Given the description of an element on the screen output the (x, y) to click on. 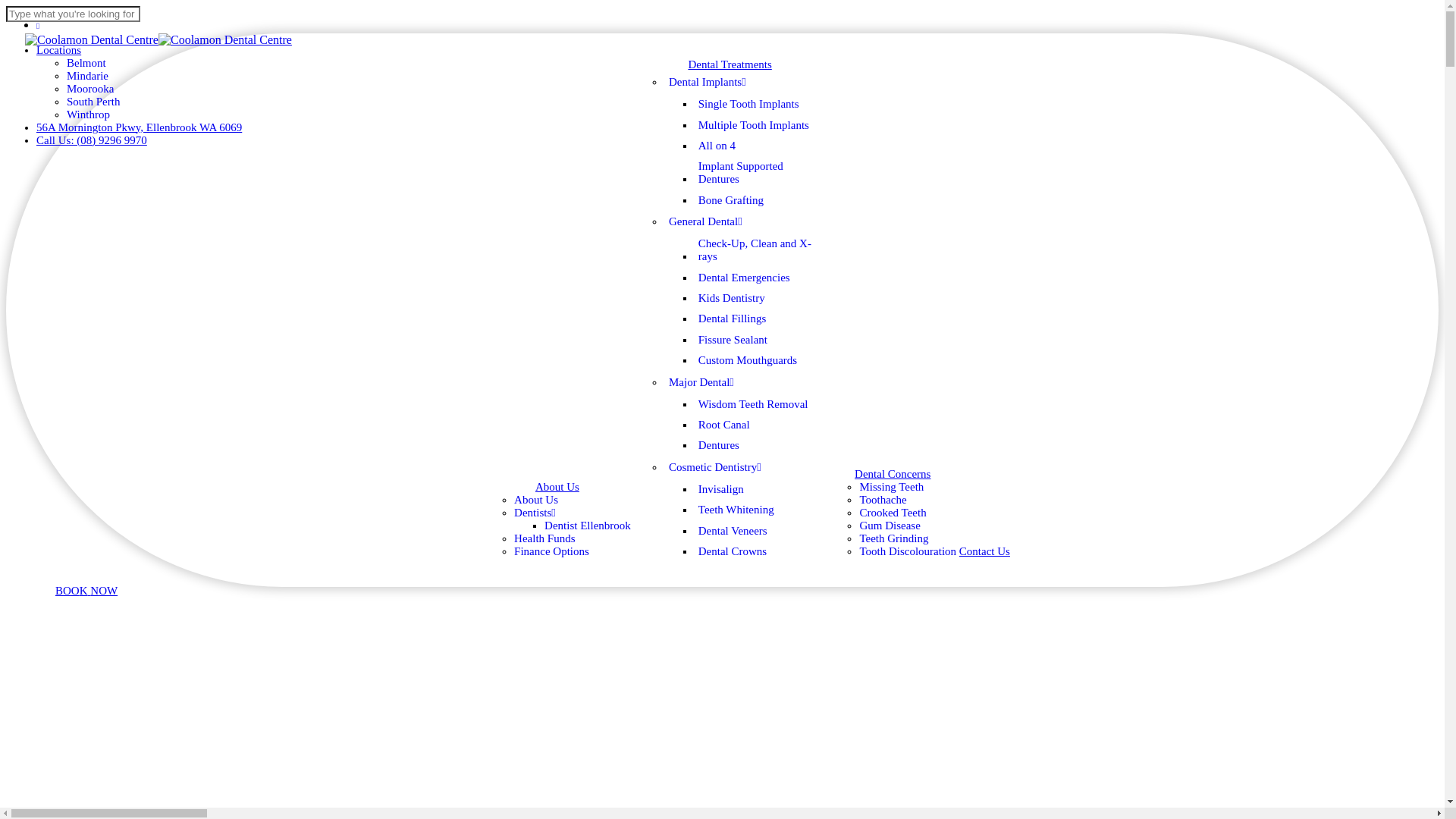
Dental Concerns Element type: text (892, 473)
Multiple Tooth Implants Element type: text (753, 124)
Belmont Element type: text (86, 62)
56A Mornington Pkwy, Ellenbrook WA 6069 Element type: text (138, 127)
All on 4 Element type: text (717, 145)
Root Canal Element type: text (723, 424)
Dentist Ellenbrook Element type: text (587, 525)
Implant Supported Dentures Element type: text (760, 172)
Dental Emergencies Element type: text (743, 276)
Cosmetic Dentistry Element type: text (715, 467)
Dental Crowns Element type: text (732, 551)
Dental Implants Element type: text (707, 82)
General Dental Element type: text (705, 221)
Dental Fillings Element type: text (732, 318)
Tooth Discolouration Element type: text (907, 551)
Toothache Element type: text (882, 499)
Teeth Whitening Element type: text (736, 509)
Dental Veneers Element type: text (732, 530)
Call Us: (08) 9296 9970 Element type: text (91, 140)
Skip to main content Element type: text (5, 5)
About Us Element type: text (536, 499)
South Perth Element type: text (92, 101)
facebook Element type: text (37, 25)
Contact Us Element type: text (984, 551)
Dentures Element type: text (718, 445)
Teeth Grinding Element type: text (893, 538)
Major Dental Element type: text (701, 382)
Dental Treatments Element type: text (729, 64)
Finance Options Element type: text (551, 551)
Check-Up, Clean and X-rays Element type: text (760, 249)
Fissure Sealant Element type: text (732, 339)
Bone Grafting Element type: text (731, 200)
Health Funds Element type: text (544, 538)
About Us Element type: text (557, 486)
Single Tooth Implants Element type: text (748, 104)
Mindarie Element type: text (87, 75)
Moorooka Element type: text (90, 88)
Wisdom Teeth Removal Element type: text (753, 403)
Locations Element type: text (58, 50)
Invisalign Element type: text (720, 489)
Gum Disease Element type: text (889, 525)
Crooked Teeth Element type: text (892, 512)
Kids Dentistry Element type: text (731, 298)
Missing Teeth Element type: text (891, 486)
Dentists Element type: text (534, 512)
BOOK NOW Element type: text (86, 590)
Custom Mouthguards Element type: text (747, 360)
Winthrop Element type: text (87, 114)
